Given the description of an element on the screen output the (x, y) to click on. 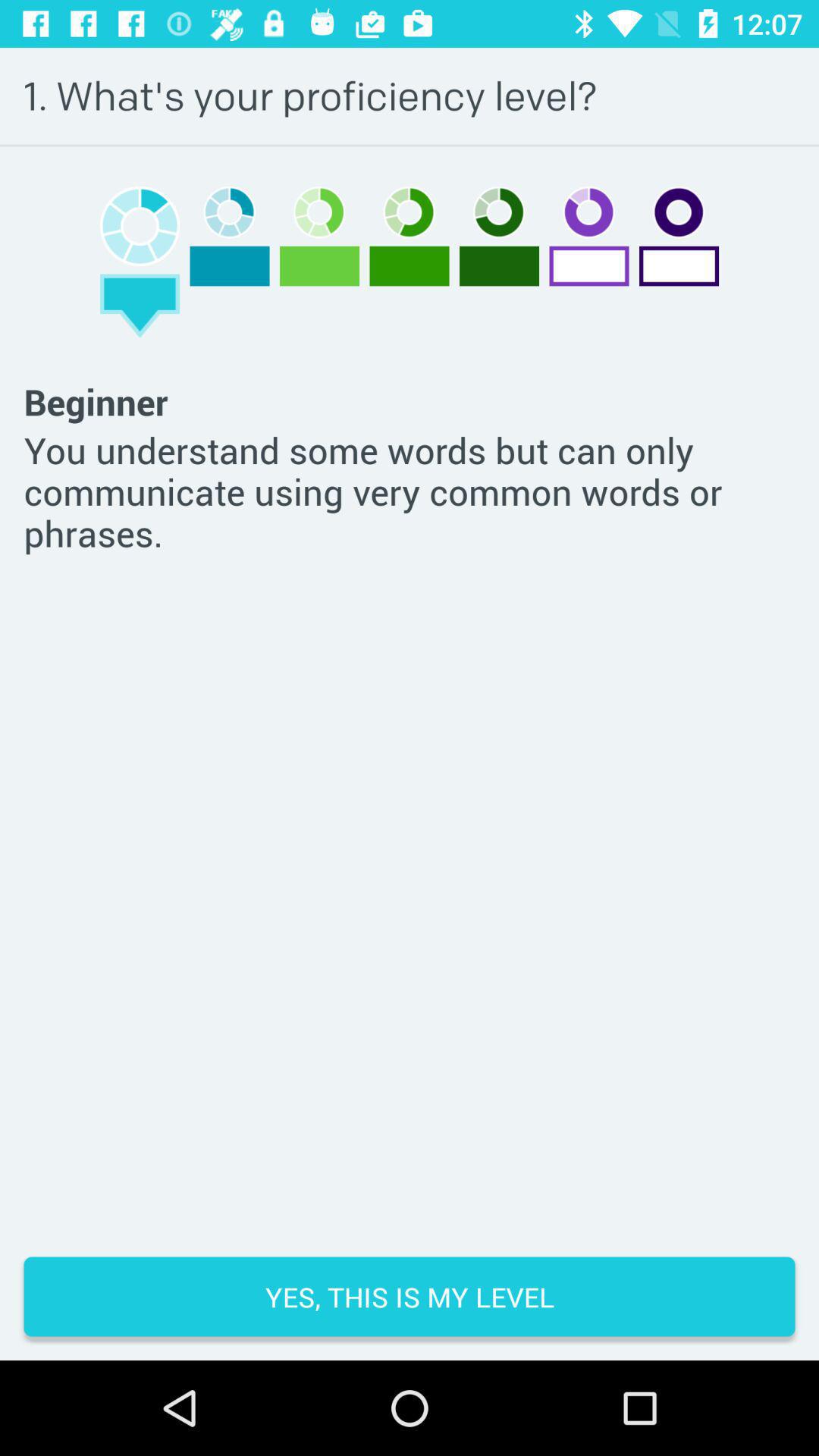
jump until the yes this is (409, 1296)
